Given the description of an element on the screen output the (x, y) to click on. 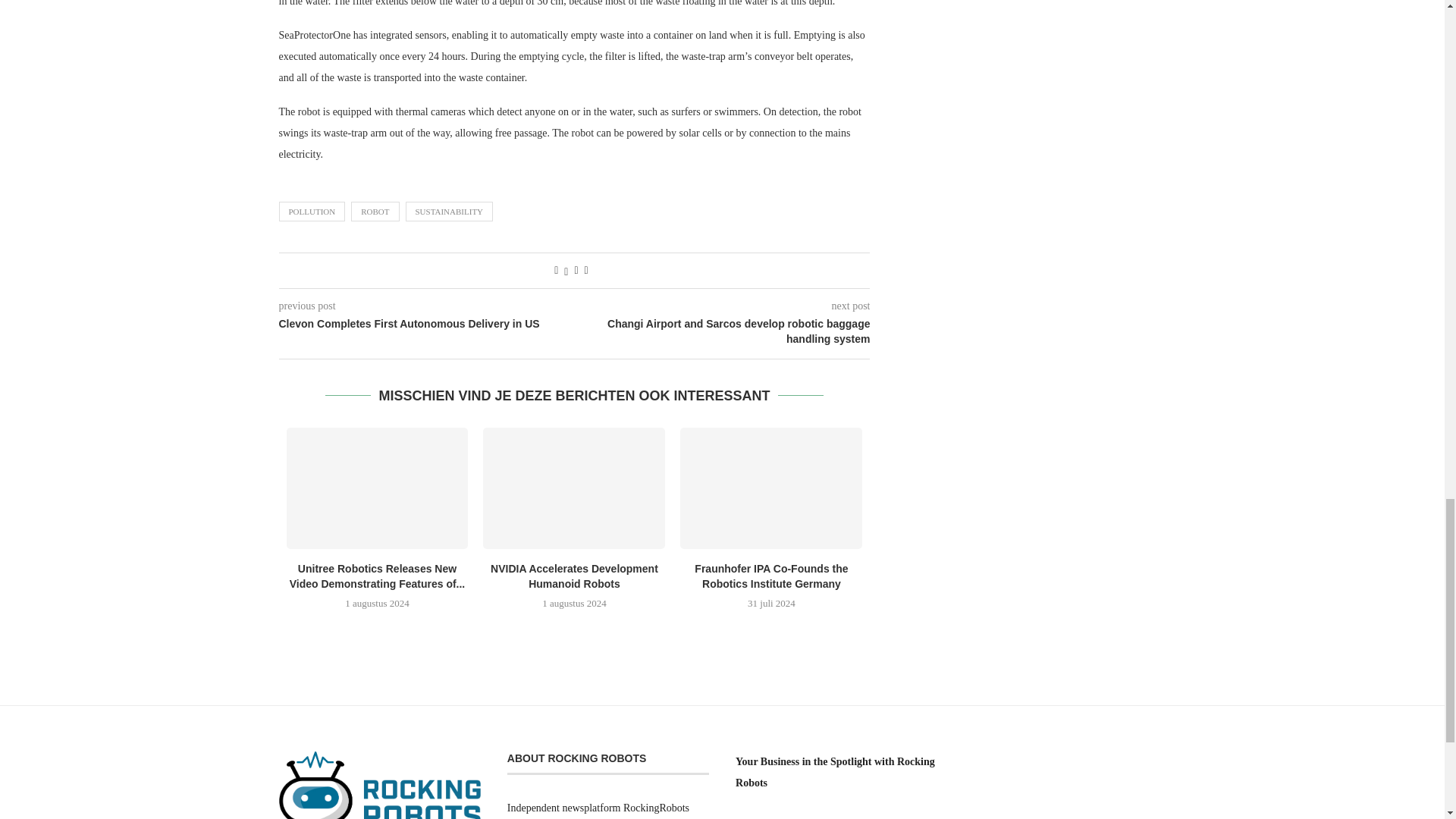
NVIDIA Accelerates Development Humanoid Robots (574, 487)
ROBOT (374, 211)
Fraunhofer IPA Co-Founds the Robotics Institute Germany (770, 487)
SUSTAINABILITY (448, 211)
POLLUTION (312, 211)
Clevon Completes First Autonomous Delivery in US (427, 324)
